Given the description of an element on the screen output the (x, y) to click on. 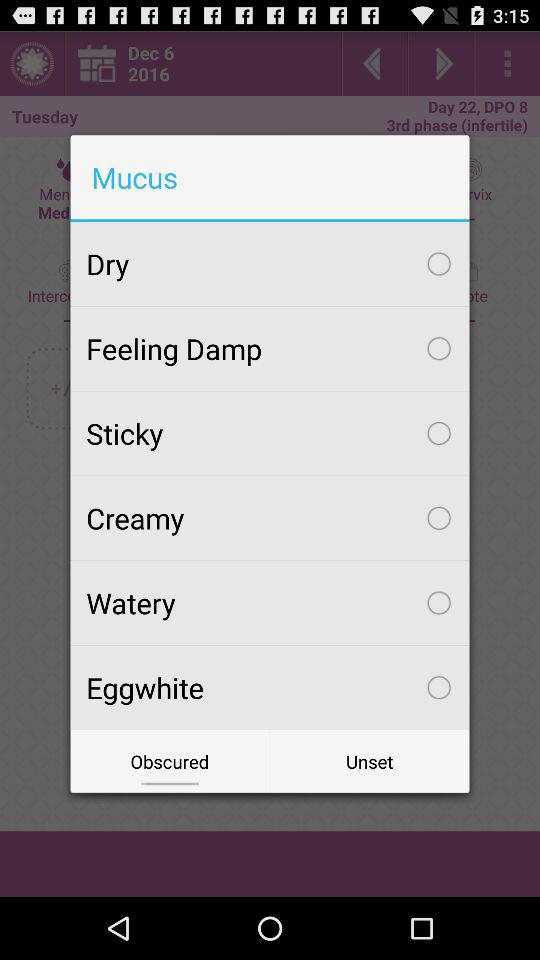
choose the icon below sticky checkbox (269, 518)
